Given the description of an element on the screen output the (x, y) to click on. 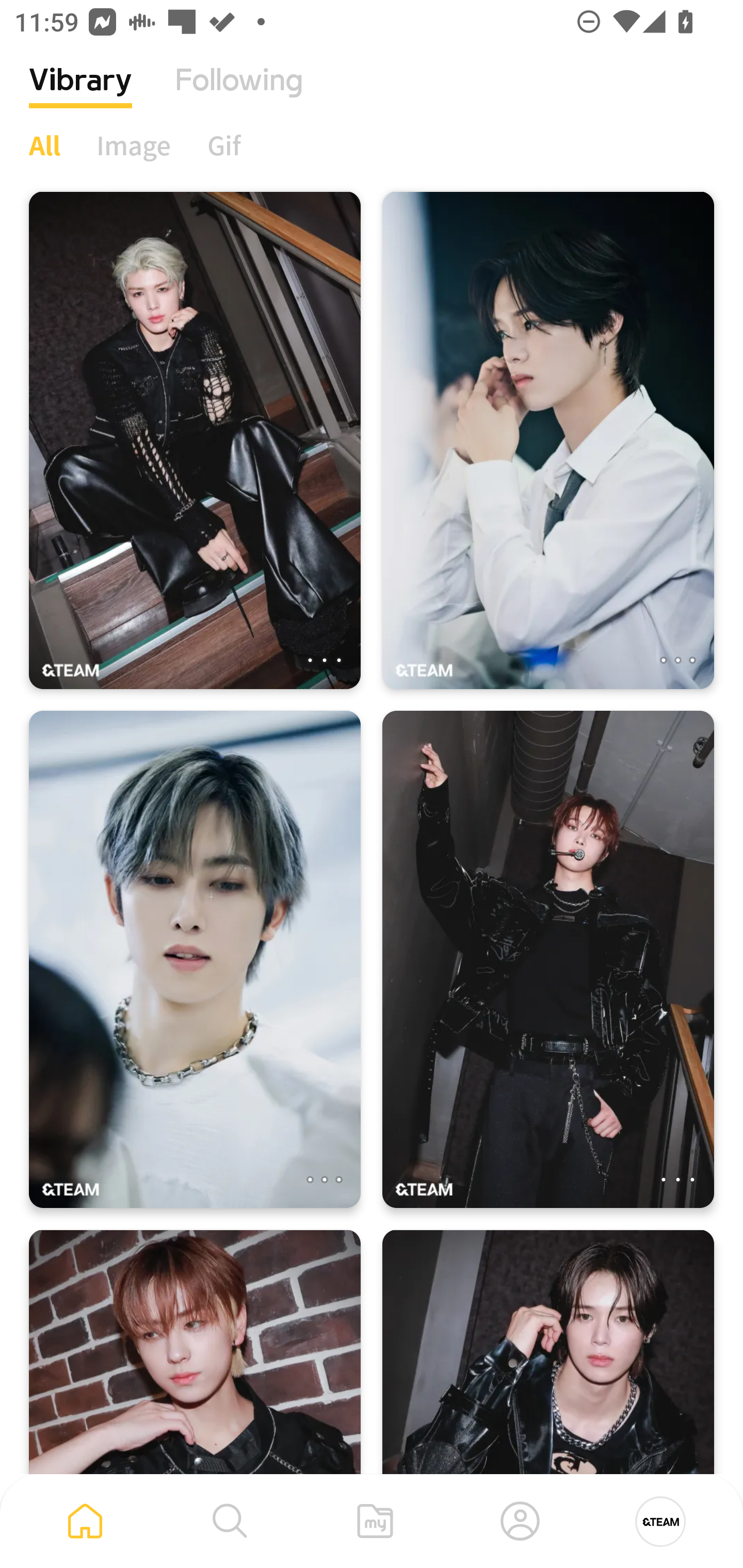
Vibrary (80, 95)
Following (239, 95)
All (44, 145)
Image (133, 145)
Gif (223, 145)
